Given the description of an element on the screen output the (x, y) to click on. 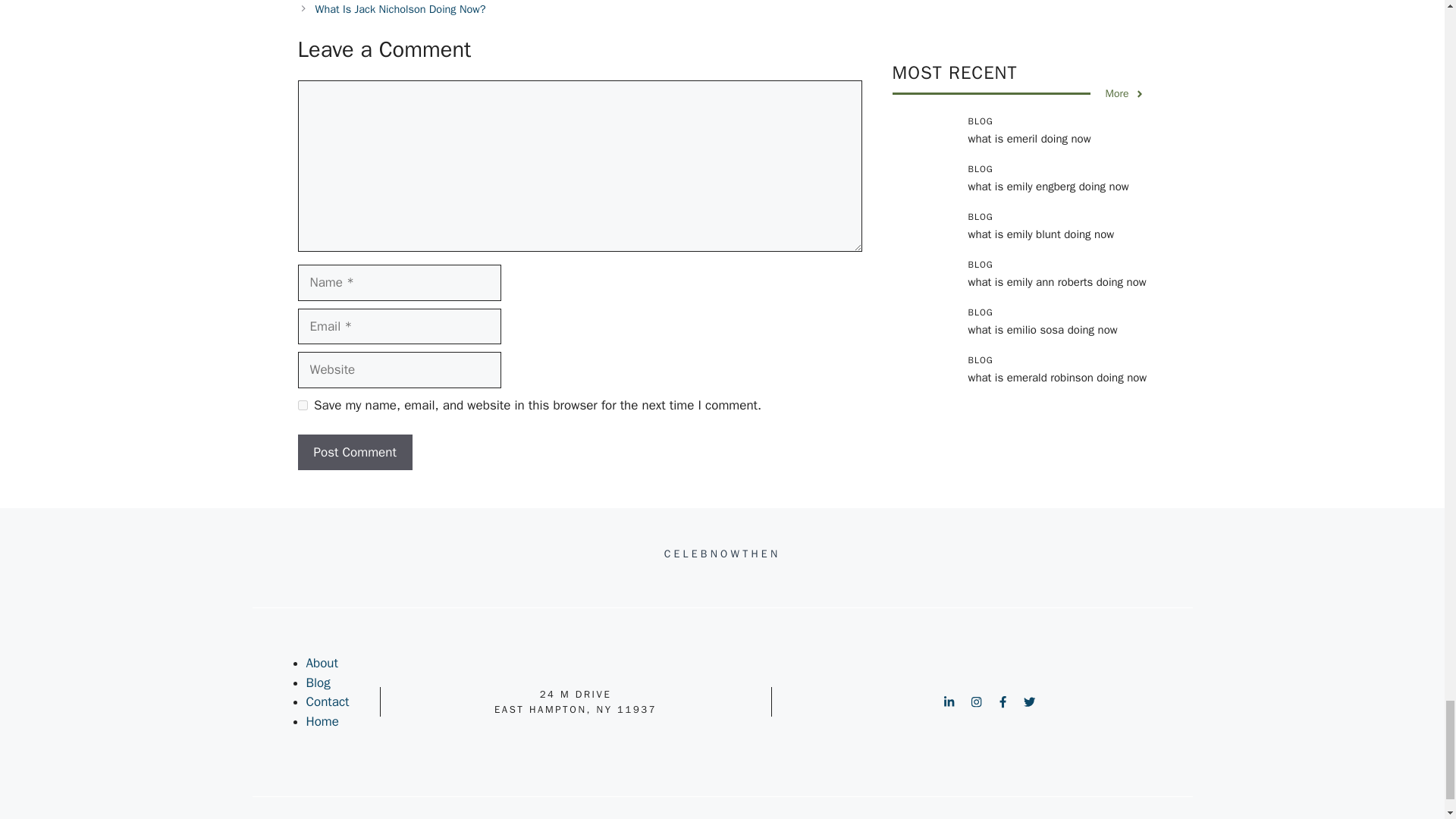
Post Comment (354, 452)
yes (302, 405)
About (321, 662)
What Is Jack Nicholson Doing Now? (400, 8)
Blog (317, 682)
Contact (327, 701)
Post Comment (354, 452)
